Given the description of an element on the screen output the (x, y) to click on. 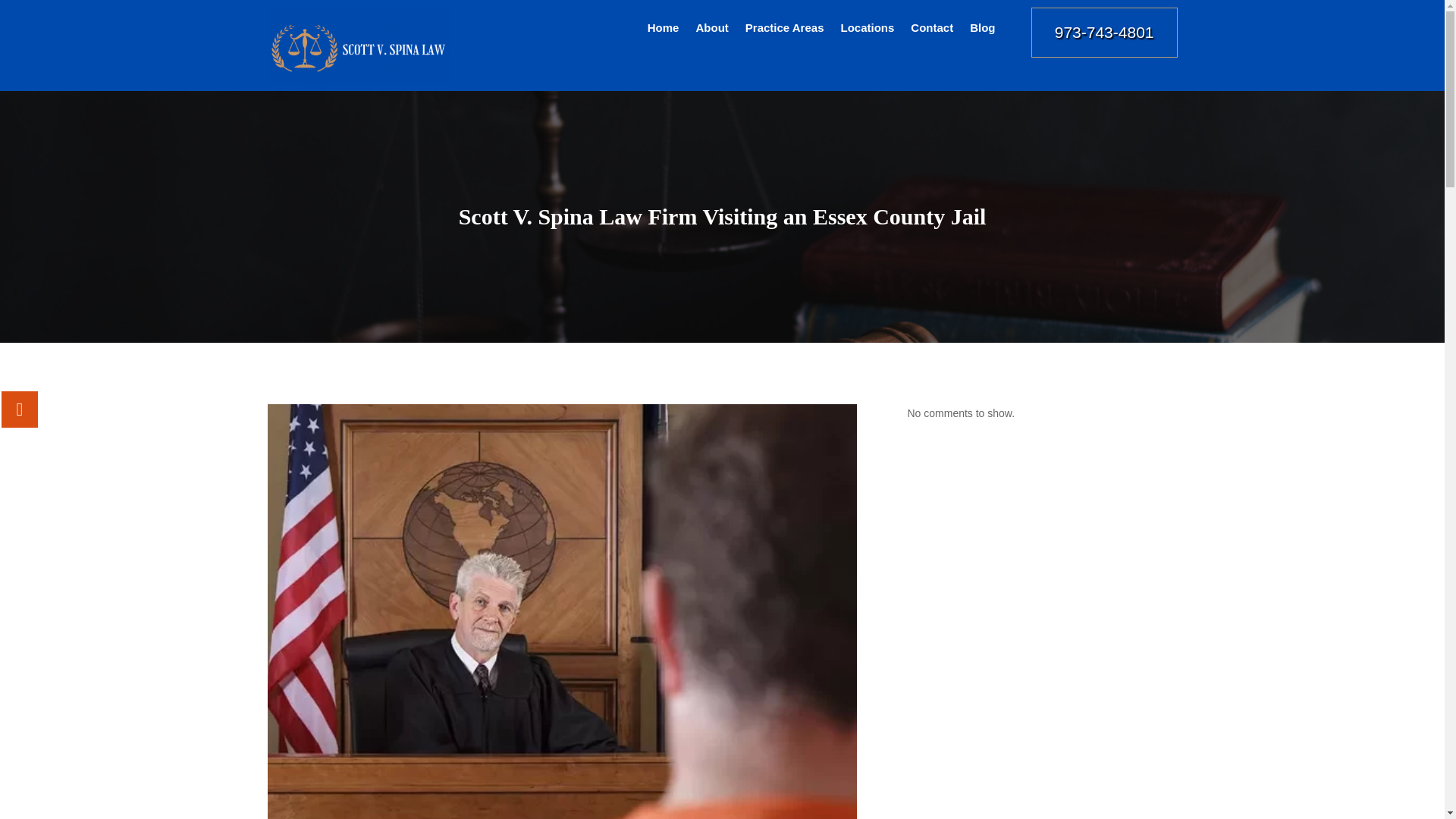
973-743-4801 (1103, 32)
Blog (981, 30)
Locations (866, 30)
Contact (932, 30)
Practice Areas (784, 30)
About (711, 30)
Home (663, 30)
Screen Shot 2021-11-30 at 2.43.13 PM (357, 45)
